Given the description of an element on the screen output the (x, y) to click on. 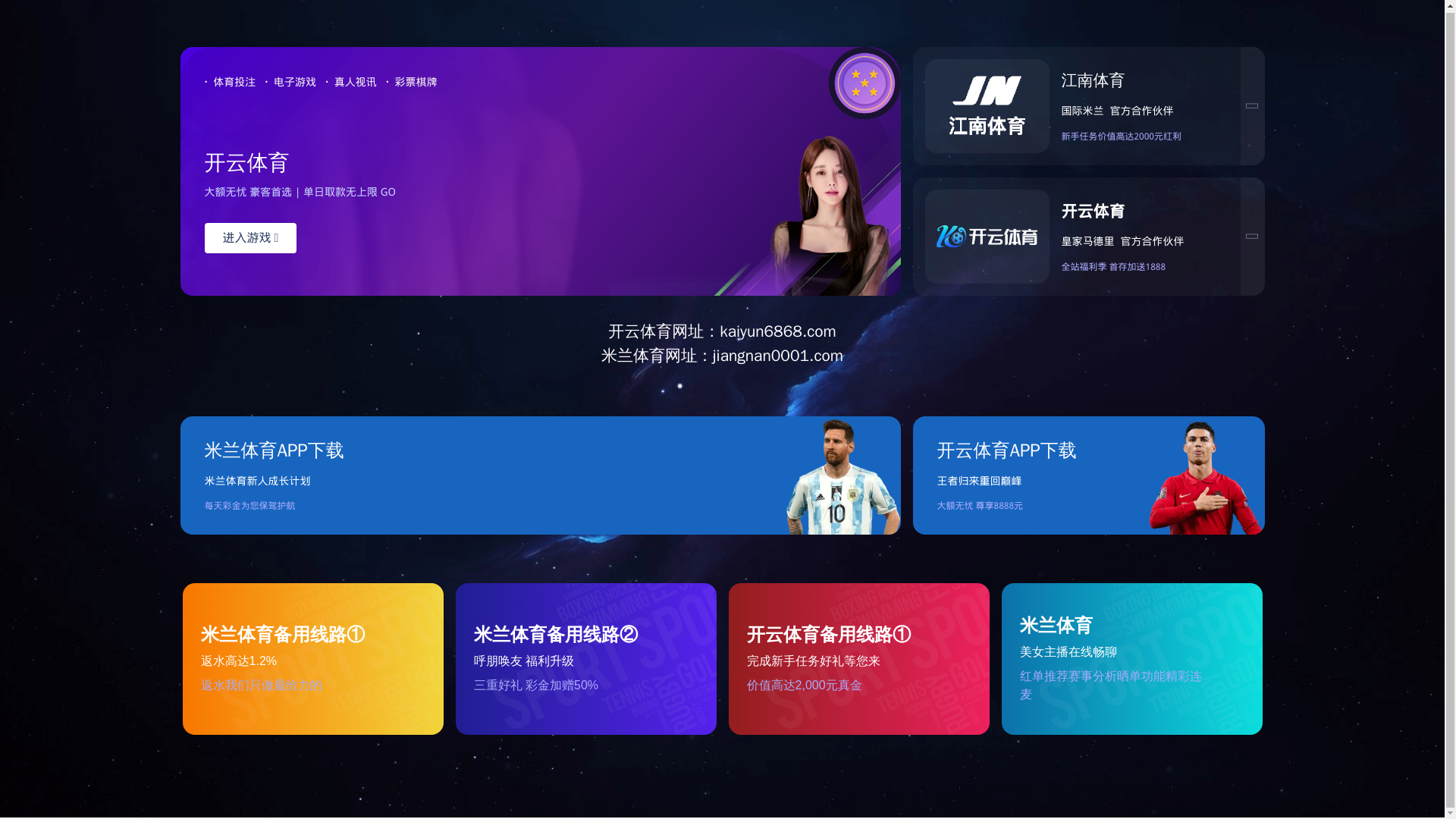
Home (336, 136)
Suppliers (773, 136)
Company Information (486, 136)
SEARCH (1146, 78)
Honor Customers (922, 136)
Products (645, 136)
Contact Us (1075, 136)
